Given the description of an element on the screen output the (x, y) to click on. 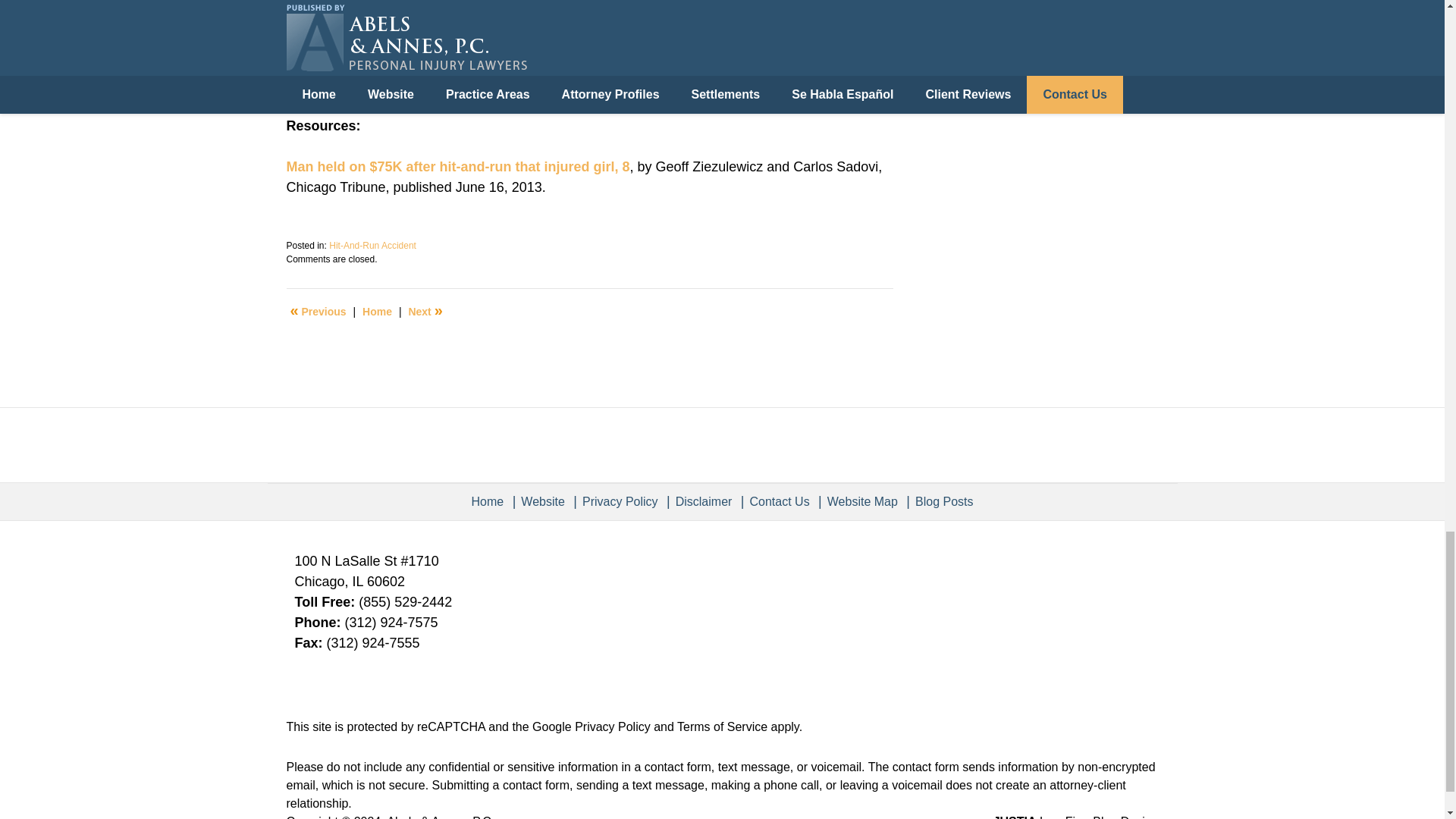
View all posts in Hit-And-Run Accident (372, 245)
Home (377, 311)
Rollover Accident Kills Man in South Suburbs (434, 5)
Hit-And-Run Accident (372, 245)
13 Injured After 3 Vehicles Collide (424, 311)
Man Charged in Fatal Tinley Park DUI and Hit-And-Run Crash (484, 64)
Rollover Accident Kills Man in South Suburbs (318, 311)
